Given the description of an element on the screen output the (x, y) to click on. 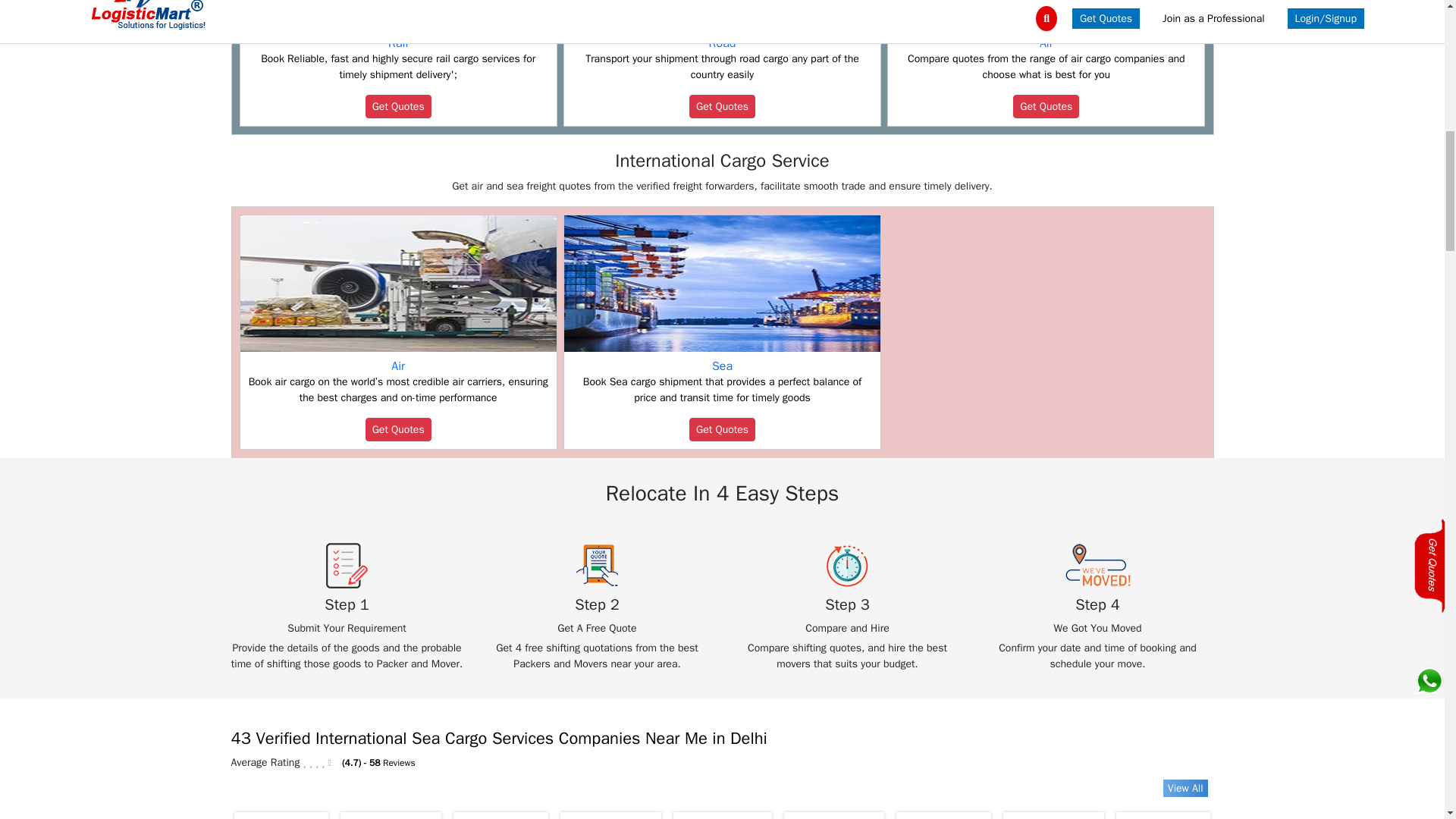
Air (1045, 43)
Get Quotes (397, 429)
Get Quotes (397, 106)
Get Quotes (721, 106)
Rail (397, 43)
Sea (721, 365)
Air (397, 365)
Road (722, 43)
Get Quotes (1045, 106)
